Given the description of an element on the screen output the (x, y) to click on. 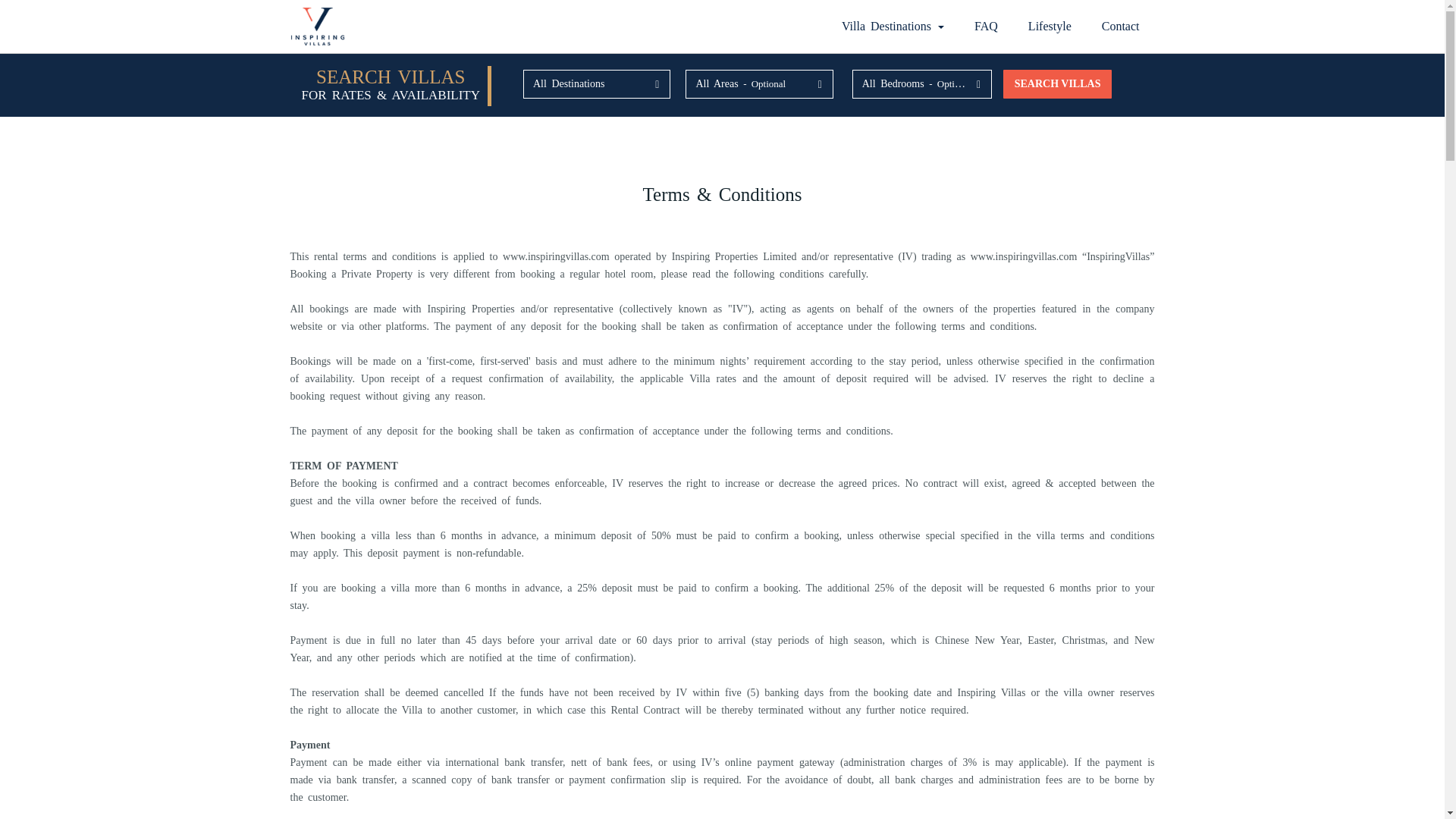
All Bedrooms - Optional (921, 83)
All Areas - Optional (758, 83)
FAQ (986, 26)
Villa Destinations (893, 26)
Contact (1120, 26)
Lifestyle (1049, 26)
SEARCH VILLAS (1057, 83)
